Given the description of an element on the screen output the (x, y) to click on. 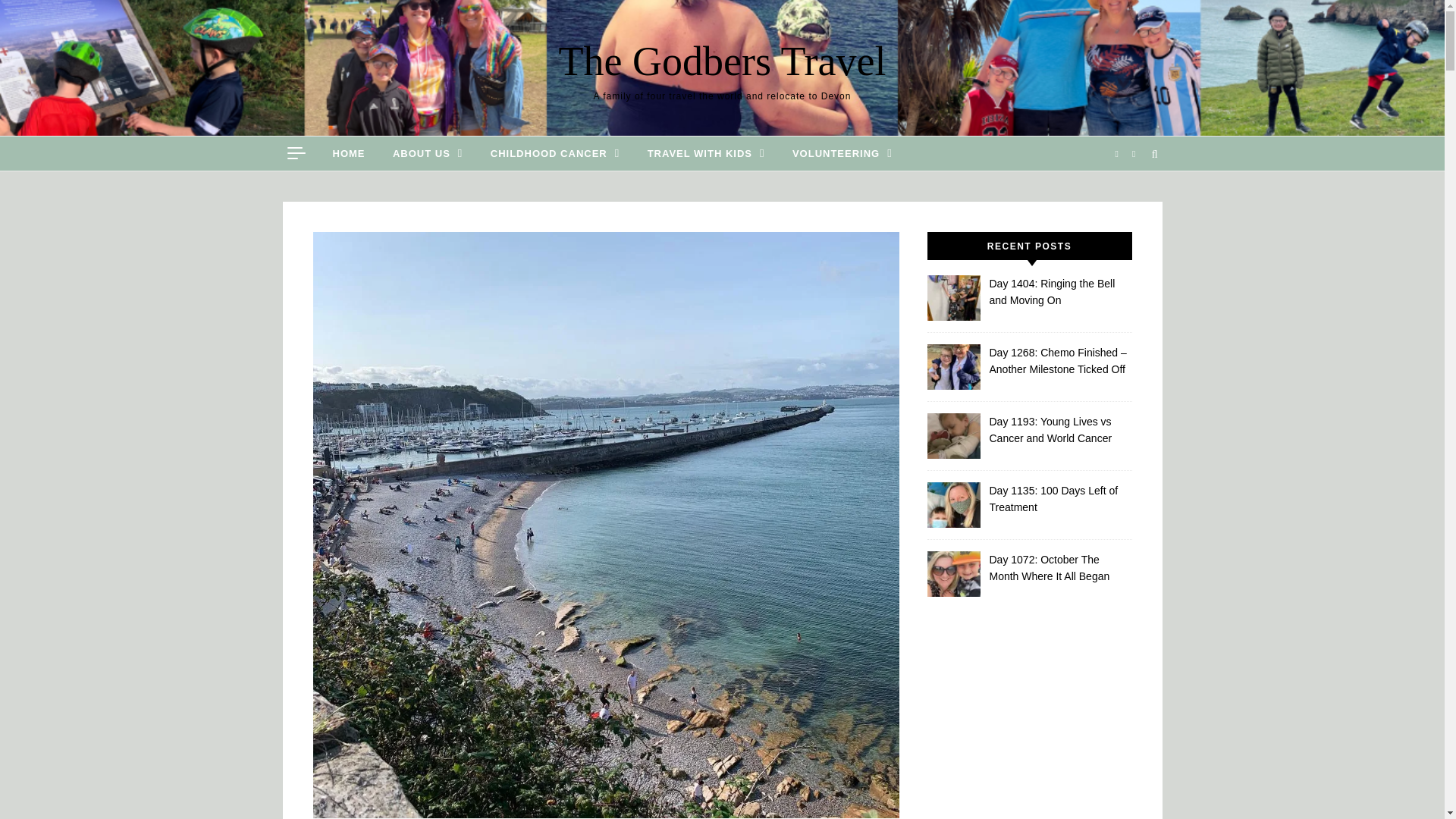
HOME (354, 153)
The Godbers Travel (722, 61)
VOLUNTEERING (836, 153)
ABOUT US (427, 153)
CHILDHOOD CANCER (555, 153)
TRAVEL WITH KIDS (705, 153)
